Given the description of an element on the screen output the (x, y) to click on. 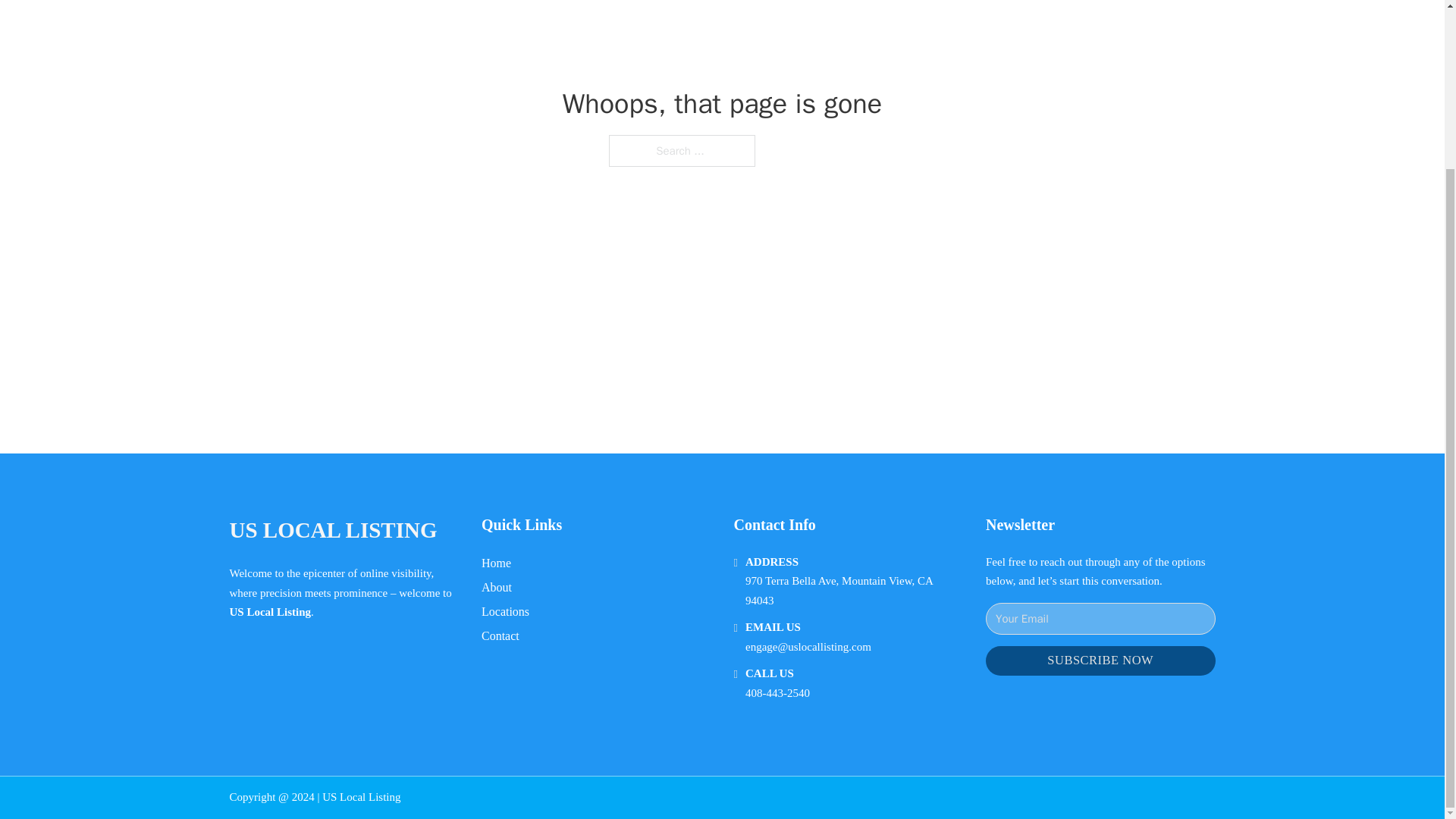
408-443-2540 (777, 693)
Locations (505, 611)
SUBSCRIBE NOW (1100, 660)
About (496, 587)
Contact (500, 635)
US LOCAL LISTING (332, 529)
Home (496, 562)
